Given the description of an element on the screen output the (x, y) to click on. 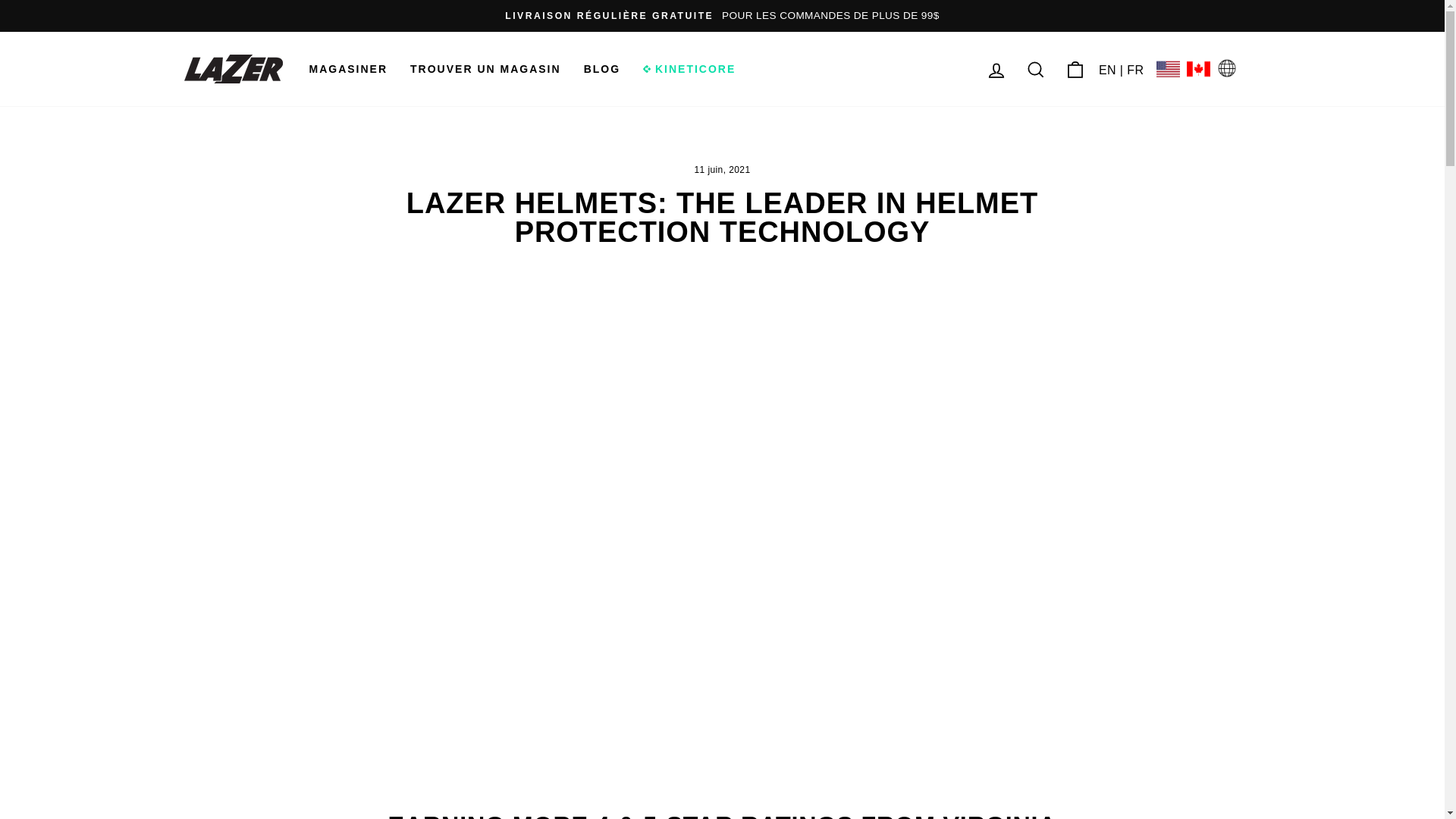
MAGASINER (347, 68)
